Given the description of an element on the screen output the (x, y) to click on. 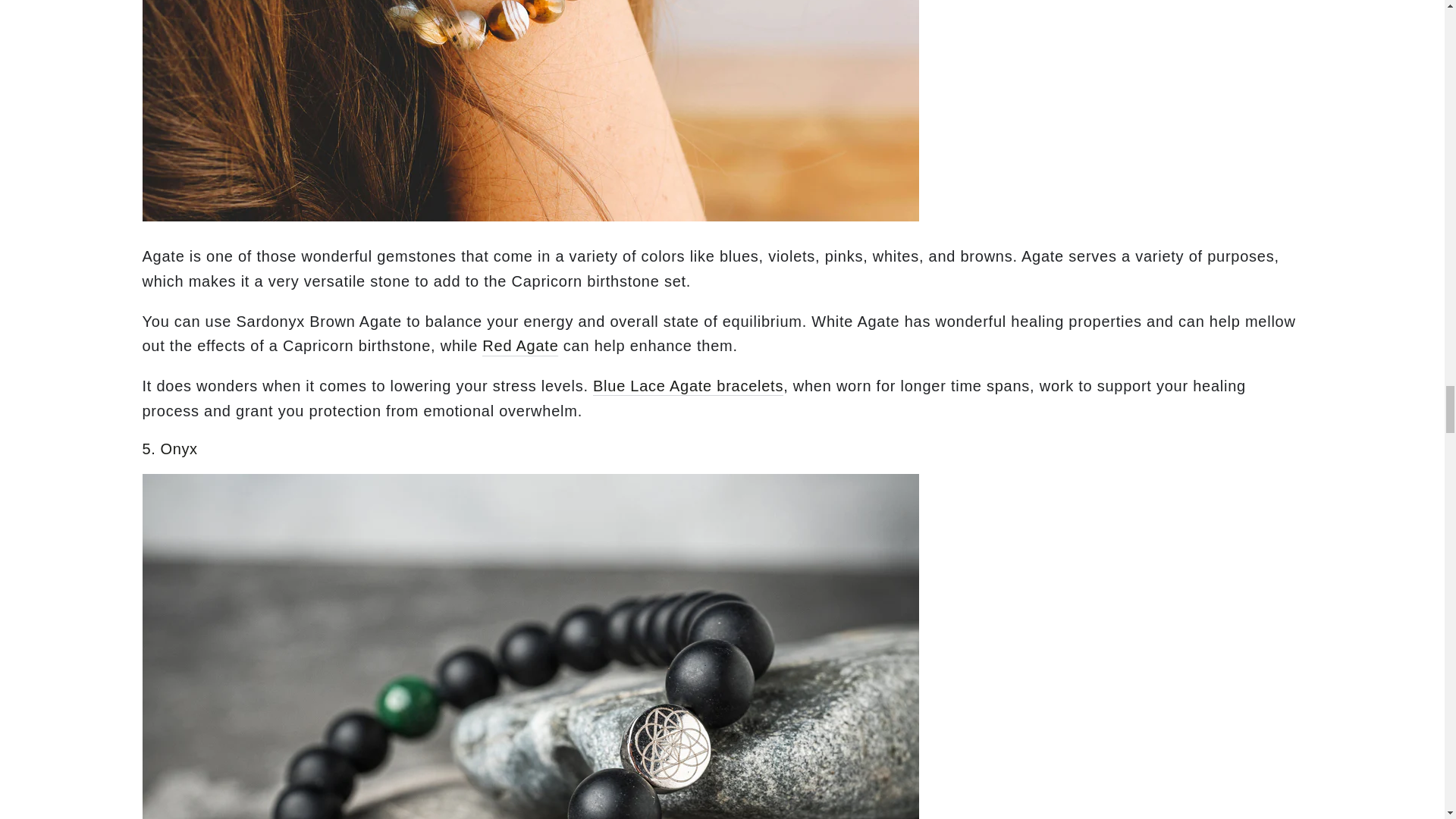
blue lace agate bracelets (687, 386)
red agate (519, 346)
